Given the description of an element on the screen output the (x, y) to click on. 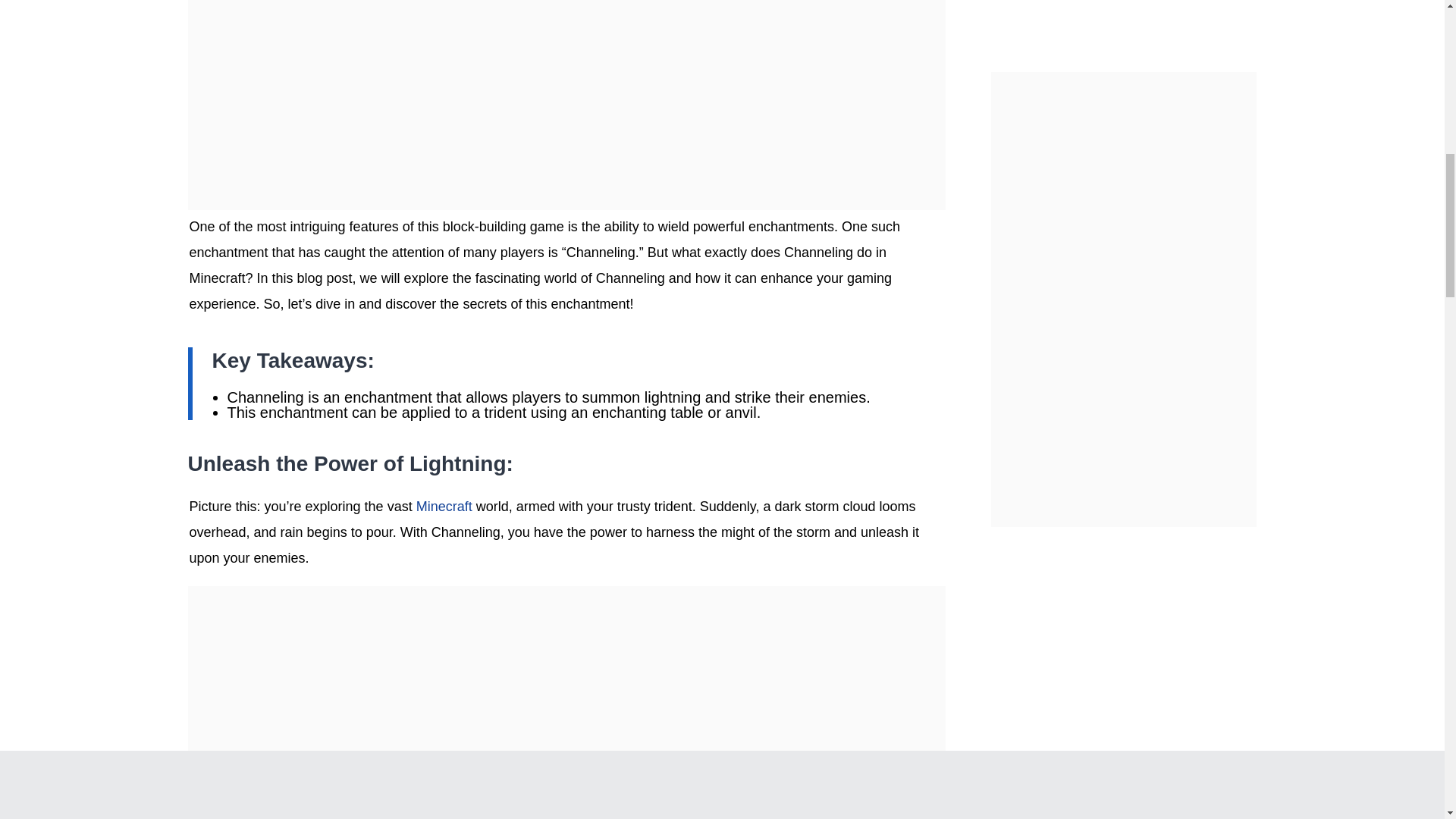
Minecraft (443, 506)
